Given the description of an element on the screen output the (x, y) to click on. 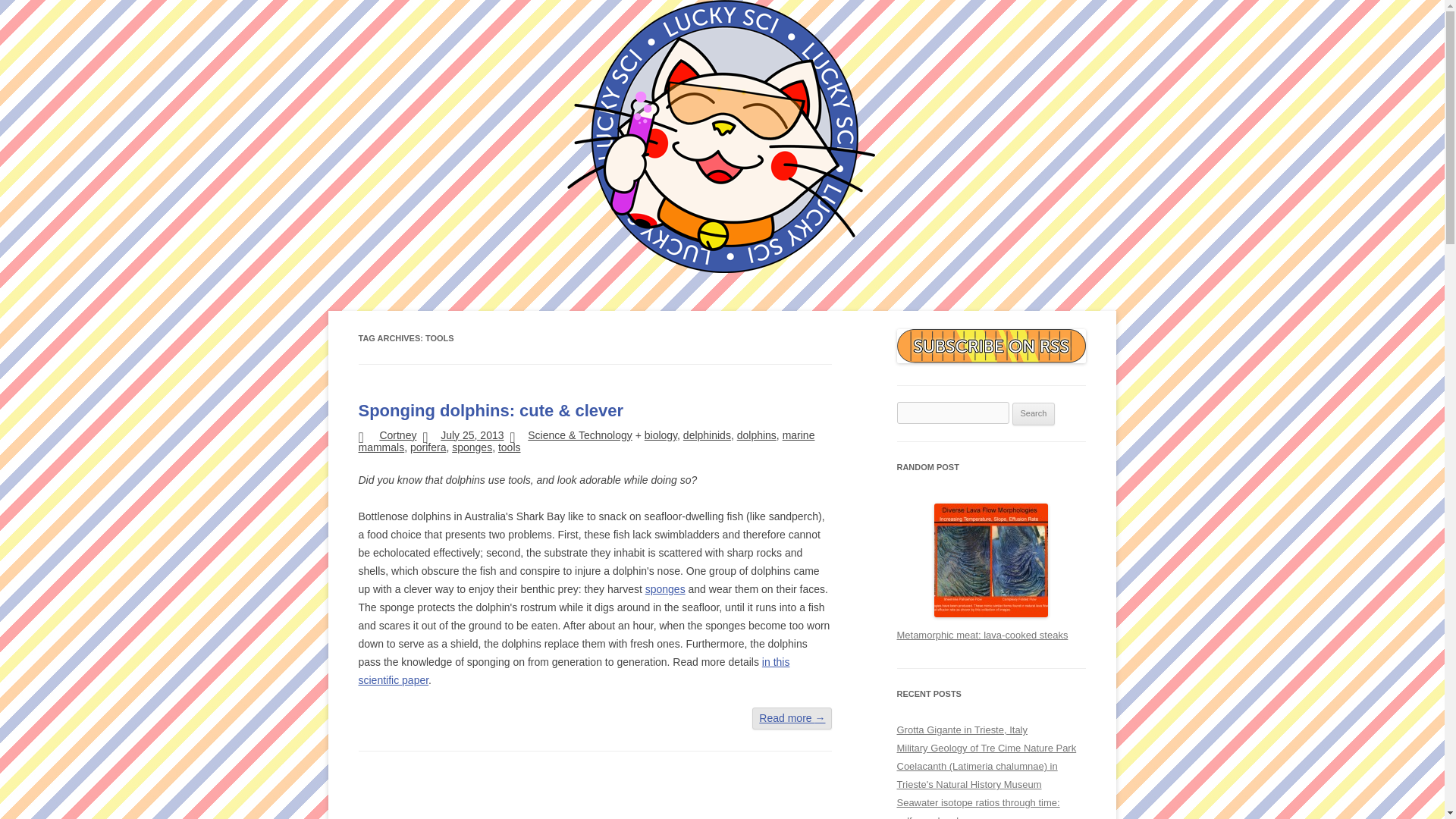
sponges (471, 447)
Metamorphic meat: lava-cooked steaks (981, 634)
tools (509, 447)
dolphins (756, 435)
porifera (427, 447)
6:52 pm (472, 435)
Grotta Gigante in Trieste, Italy (961, 729)
biology (661, 435)
in this scientific paper (573, 671)
July 25, 2013 (472, 435)
sponges (665, 589)
View all posts by Cortney (397, 435)
delphinids (706, 435)
Seawater isotope ratios through time: sulfur and carbon (977, 807)
Military Geology of Tre Cime Nature Park (985, 747)
